Given the description of an element on the screen output the (x, y) to click on. 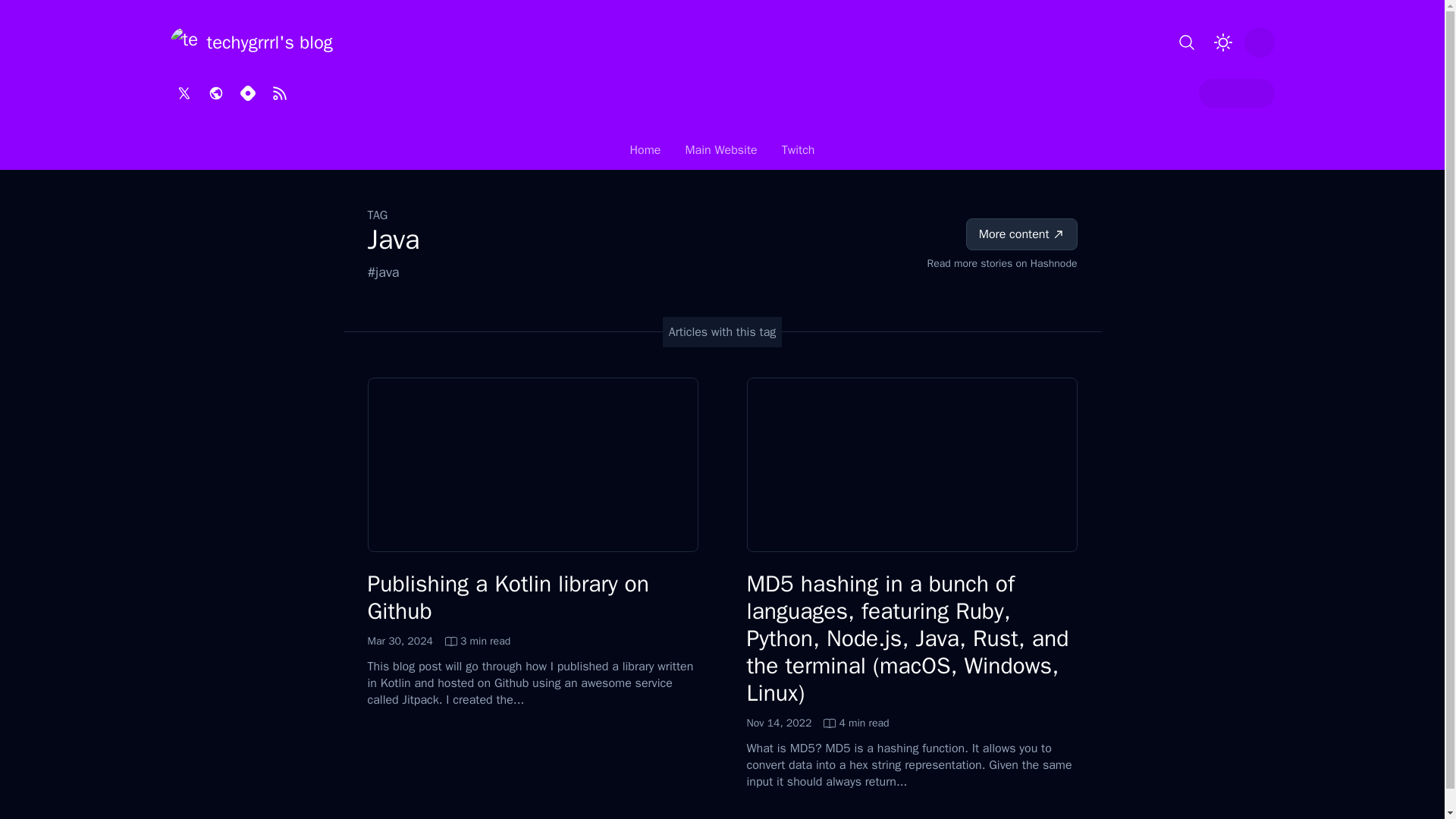
Twitch (798, 153)
techygrrrl's blog (250, 42)
More content (1021, 234)
Main Website (720, 153)
Publishing a Kotlin library on Github (816, 723)
Home (438, 641)
